Given the description of an element on the screen output the (x, y) to click on. 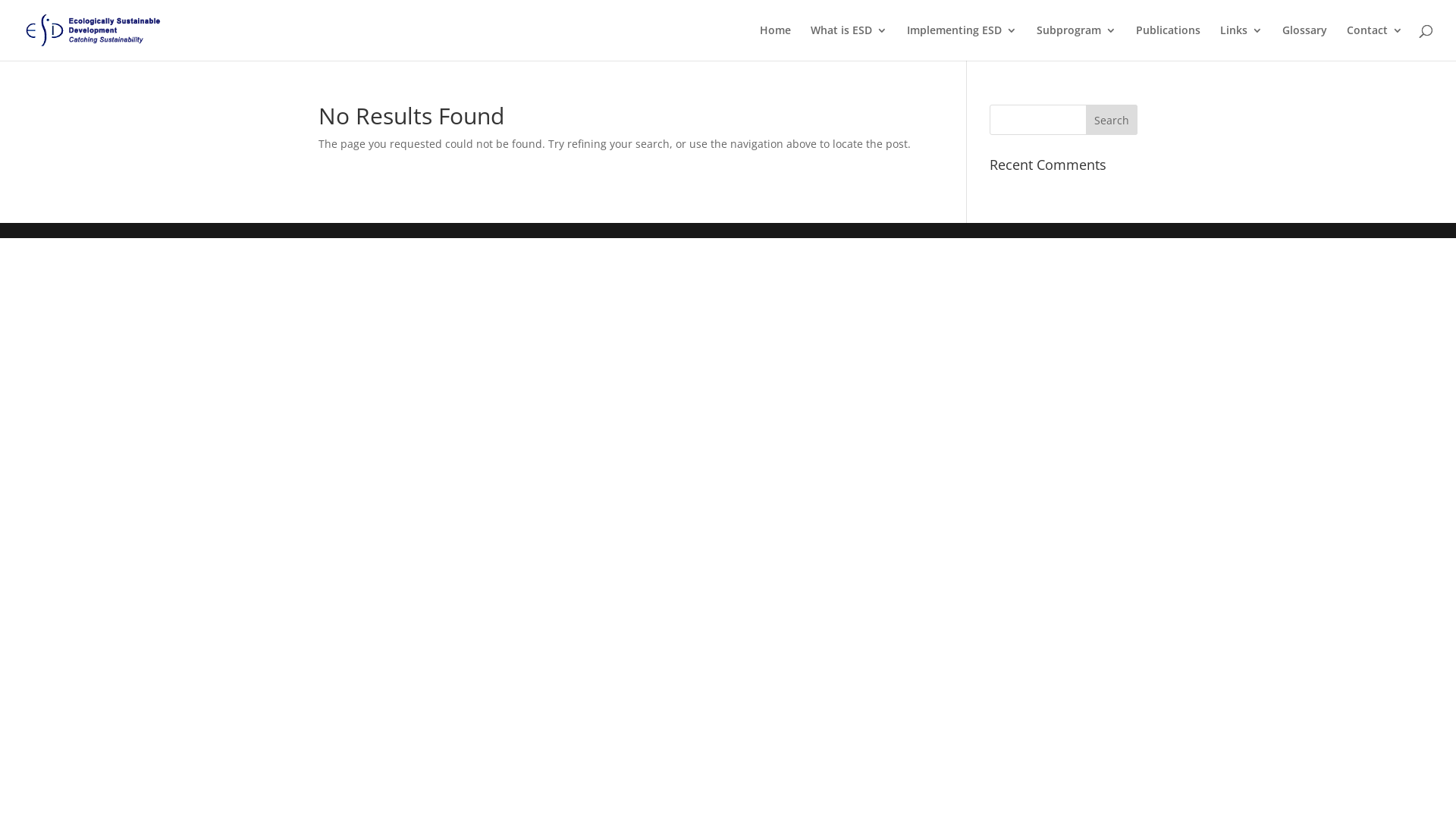
Subprogram Element type: text (1076, 42)
Implementing ESD Element type: text (961, 42)
Publications Element type: text (1167, 42)
Glossary Element type: text (1304, 42)
Home Element type: text (774, 42)
Search Element type: text (1111, 119)
Links Element type: text (1241, 42)
What is ESD Element type: text (848, 42)
Contact Element type: text (1374, 42)
